Given the description of an element on the screen output the (x, y) to click on. 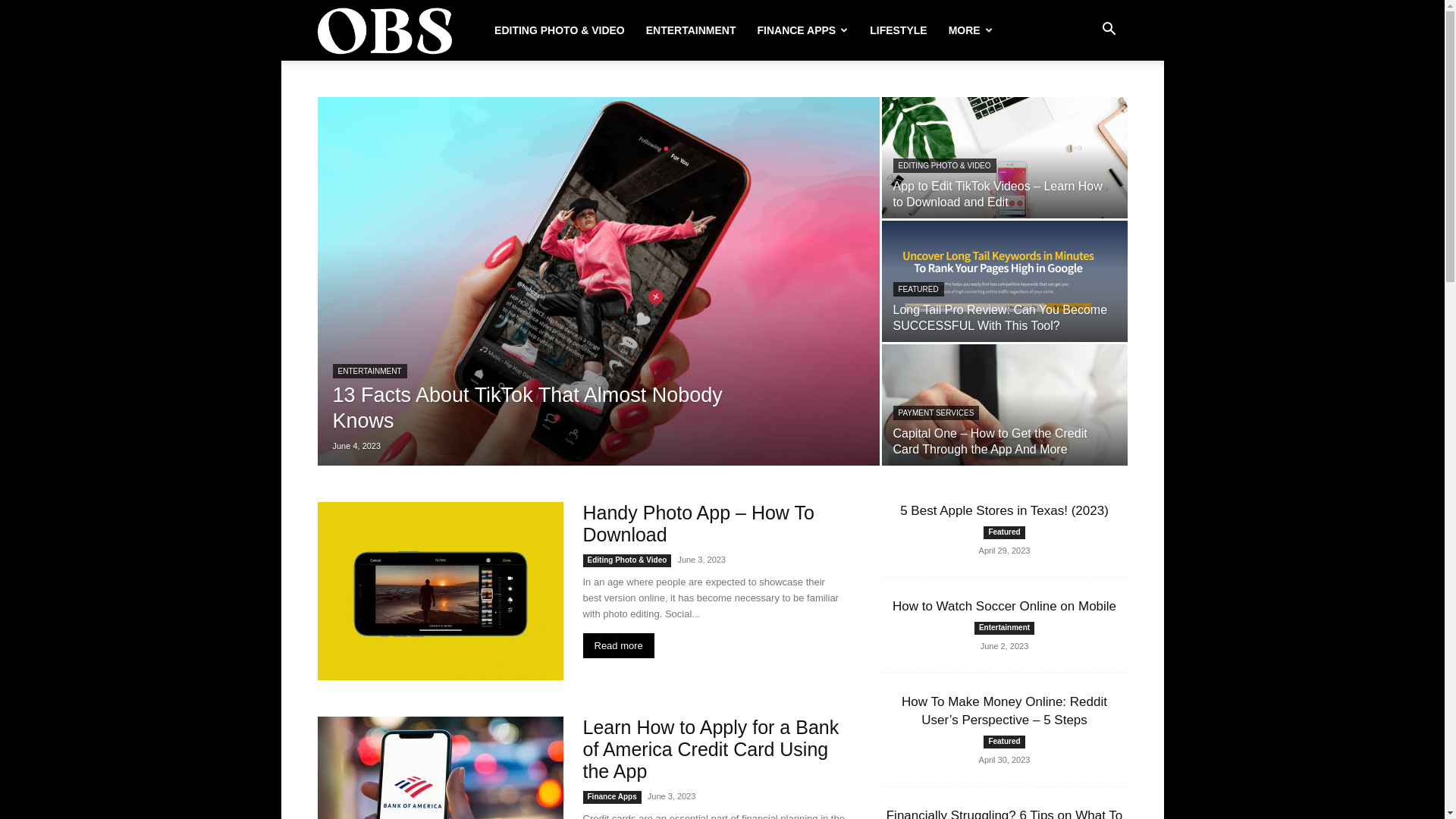
Featured Element type: text (1003, 532)
FEATURED Element type: text (918, 289)
ENTERTAINMENT Element type: text (690, 30)
Finance Apps Element type: text (611, 796)
LIFESTYLE Element type: text (898, 30)
Search Element type: text (1084, 103)
Editing Photo & Video Element type: text (626, 560)
PAYMENT SERVICES Element type: text (936, 412)
EDITING PHOTO & VIDEO Element type: text (559, 30)
How to Watch Soccer Online on Mobile Element type: text (1004, 606)
FINANCE APPS Element type: text (802, 30)
OBS Element type: text (383, 30)
13 Facts About TikTok That Almost Nobody Knows Element type: hover (597, 281)
5 Best Apple Stores in Texas! (2023) Element type: text (1004, 510)
ENTERTAINMENT Element type: text (369, 371)
MORE Element type: text (971, 30)
Entertainment Element type: text (1004, 627)
Read more Element type: text (617, 645)
EDITING PHOTO & VIDEO Element type: text (944, 165)
13 Facts About TikTok That Almost Nobody Knows Element type: text (526, 407)
Featured Element type: text (1003, 741)
